Given the description of an element on the screen output the (x, y) to click on. 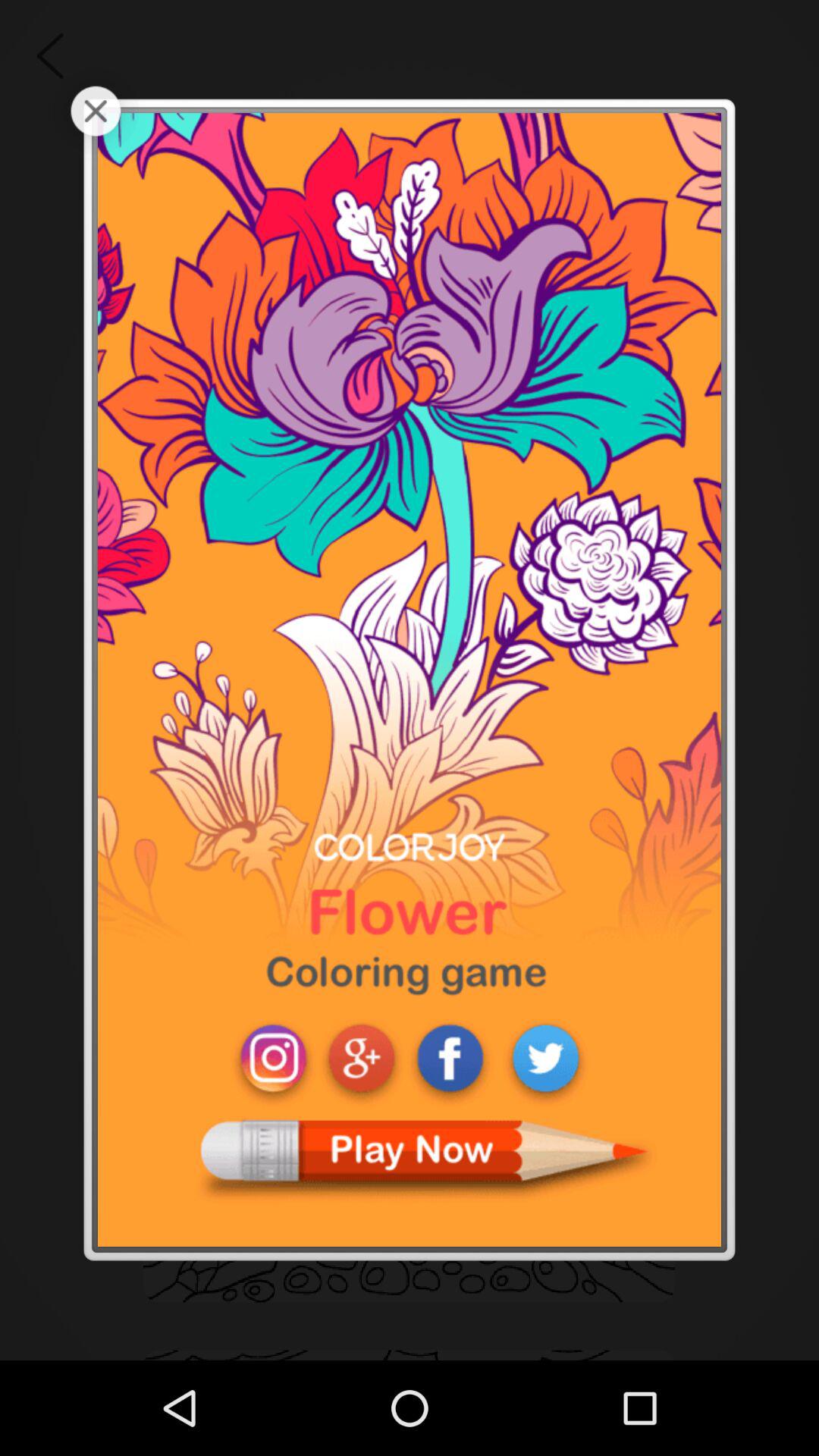
close advertisement window (95, 110)
